Given the description of an element on the screen output the (x, y) to click on. 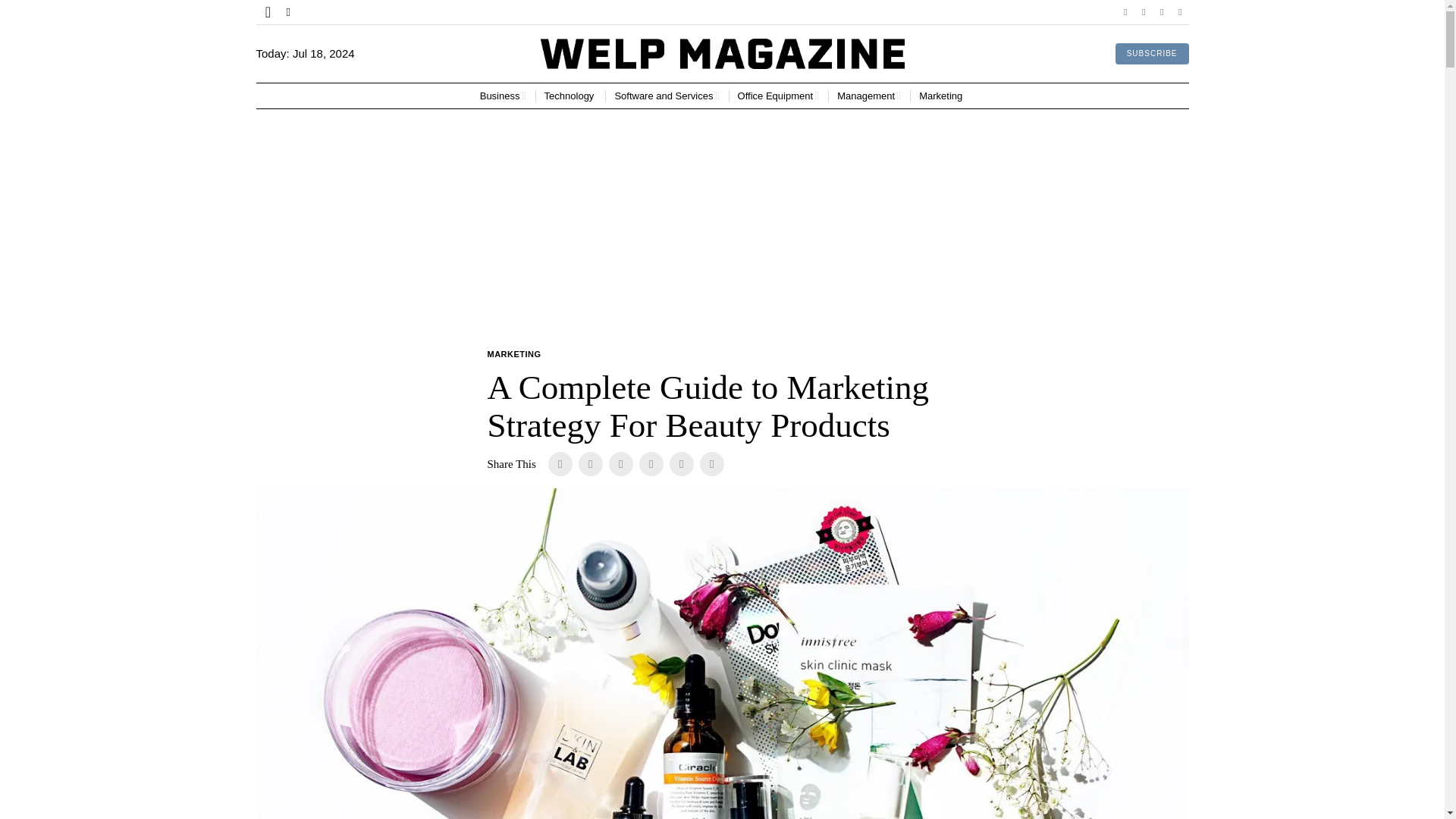
Technology (570, 95)
MARKETING (513, 354)
SUBSCRIBE (1152, 53)
Office Equipment (778, 95)
Marketing (942, 95)
Management (869, 95)
Business (502, 95)
Software and Services (666, 95)
